Given the description of an element on the screen output the (x, y) to click on. 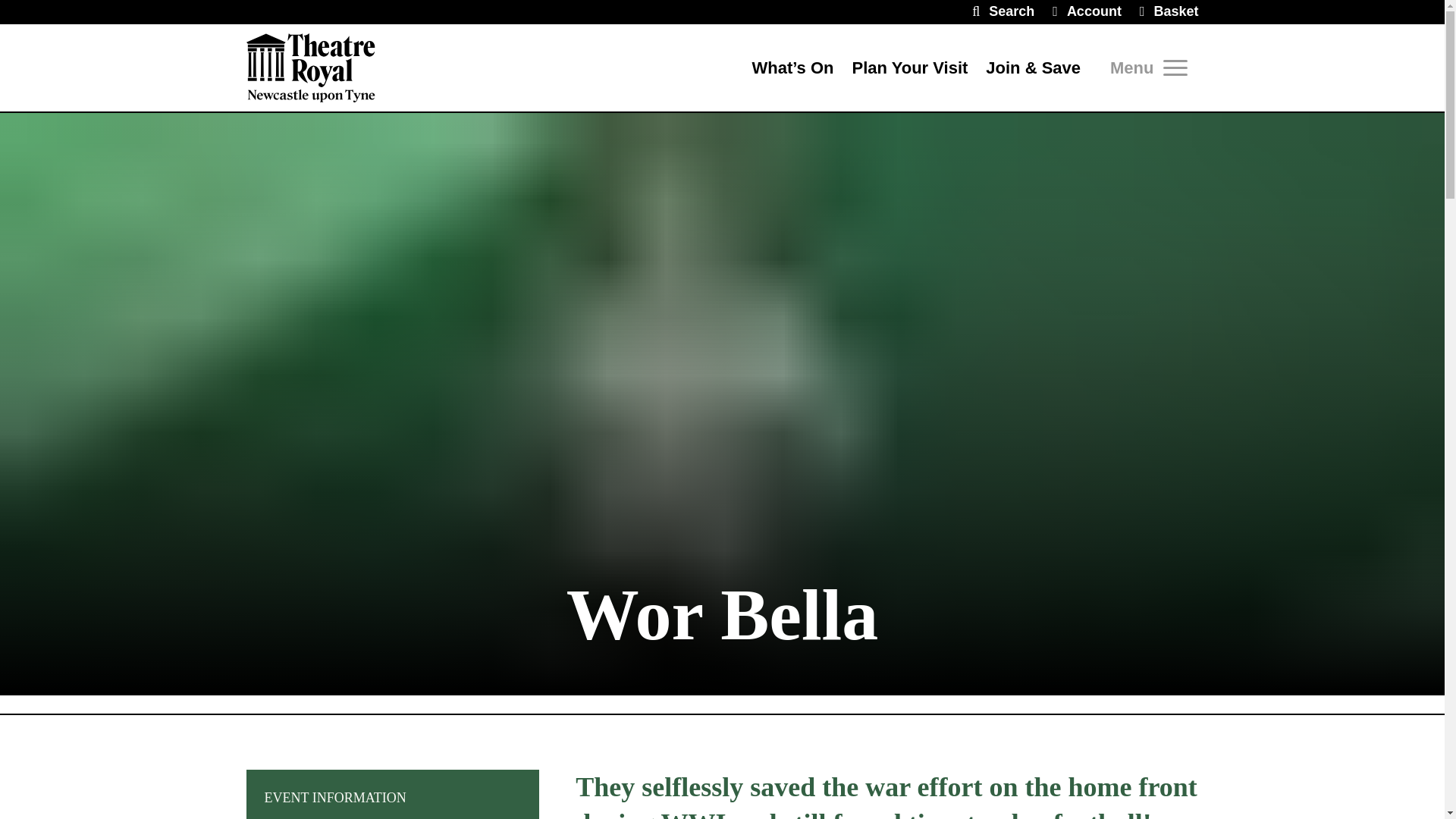
Account (1086, 11)
Search (1002, 11)
Menu (1148, 67)
Plan Your Visit (909, 67)
Basket (1169, 11)
Home (310, 66)
